Given the description of an element on the screen output the (x, y) to click on. 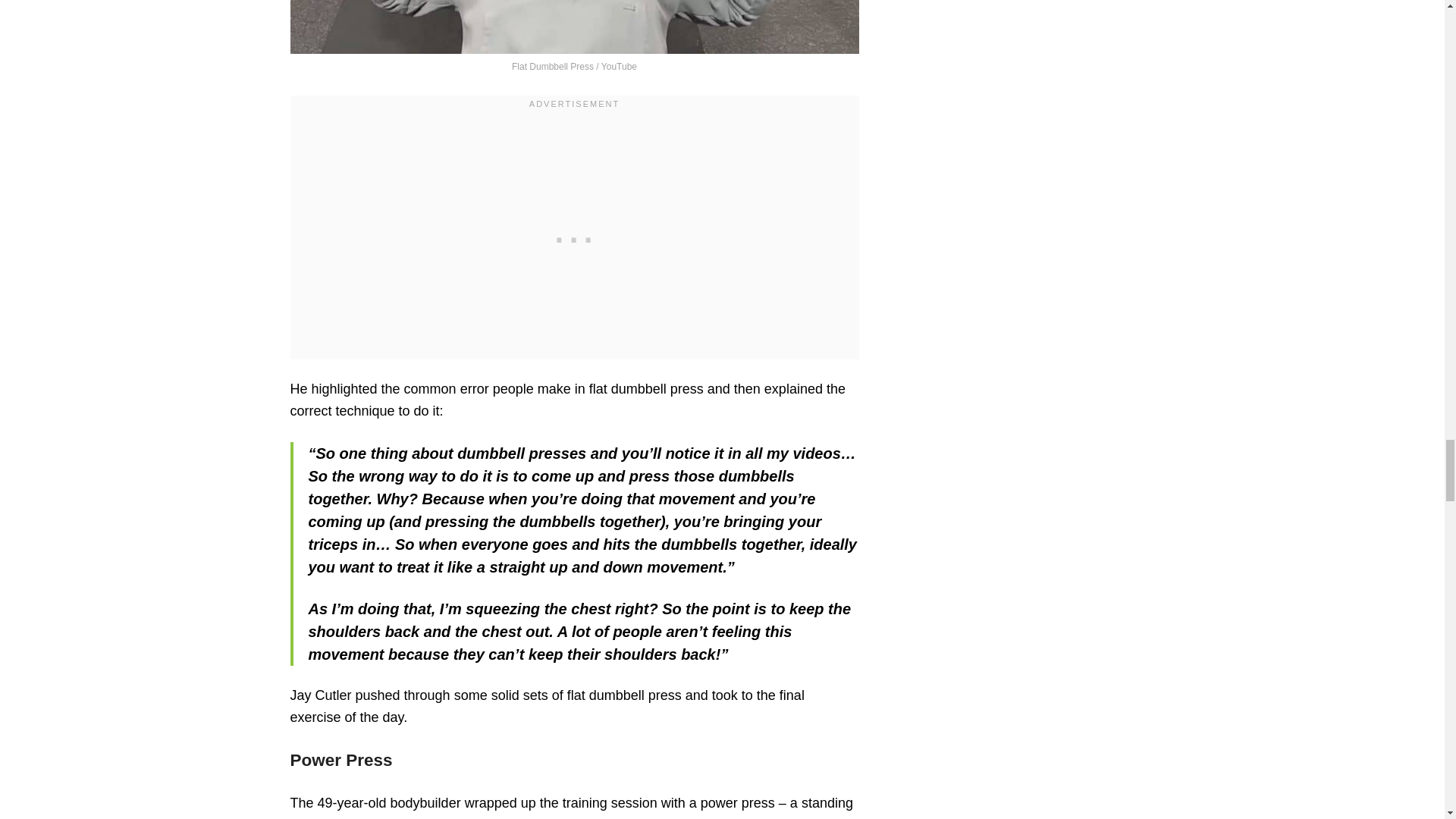
Flat Dumbbell Press (574, 27)
